Given the description of an element on the screen output the (x, y) to click on. 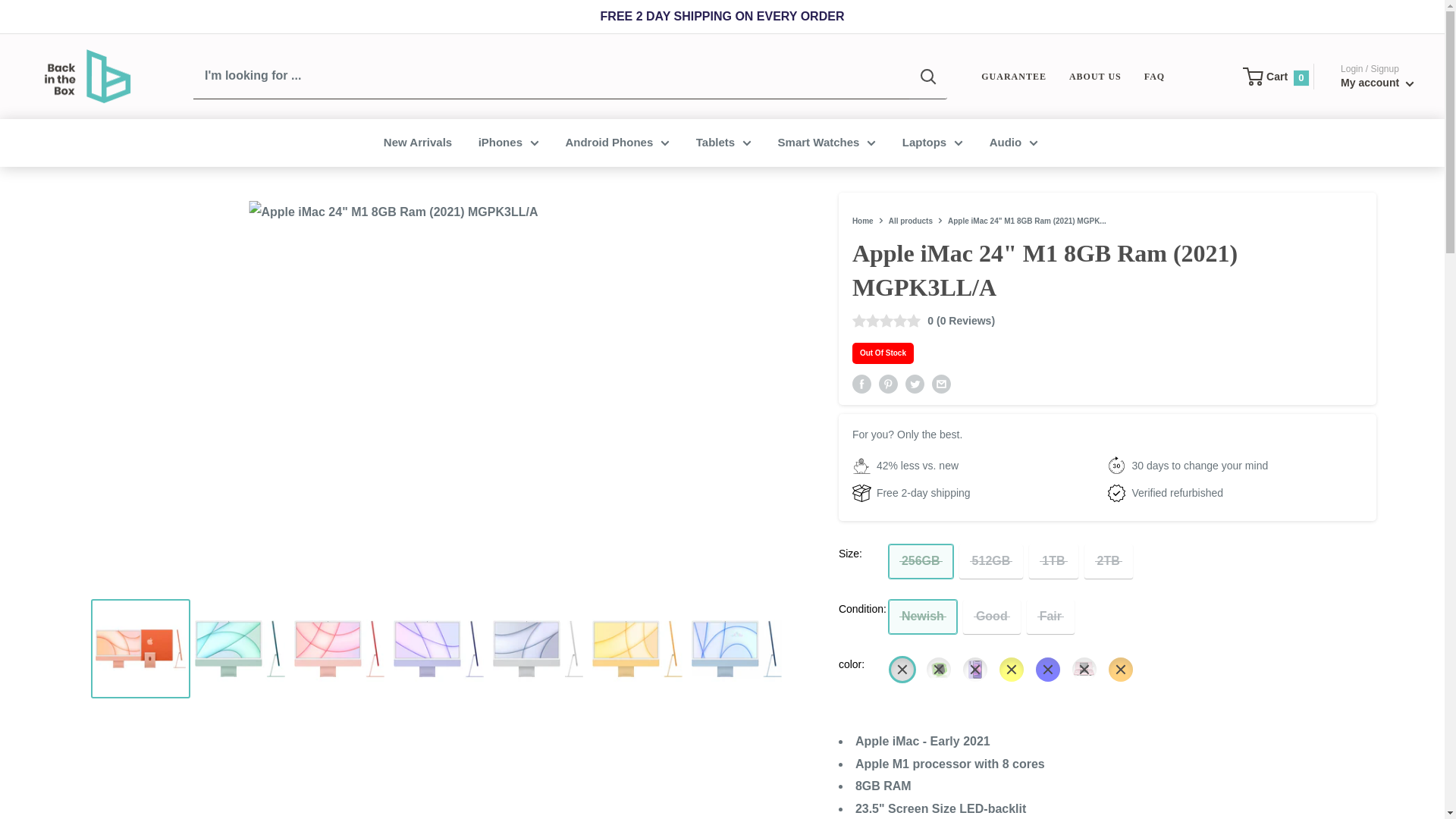
2TB (1108, 561)
256GB (920, 561)
purple (974, 669)
1TB (1053, 561)
Fair (1050, 616)
512GB (991, 561)
green (938, 669)
blue (1047, 669)
Newish (922, 616)
Good (991, 616)
silver (901, 669)
yellow (1010, 669)
pink (1083, 669)
orange (1120, 669)
